Given the description of an element on the screen output the (x, y) to click on. 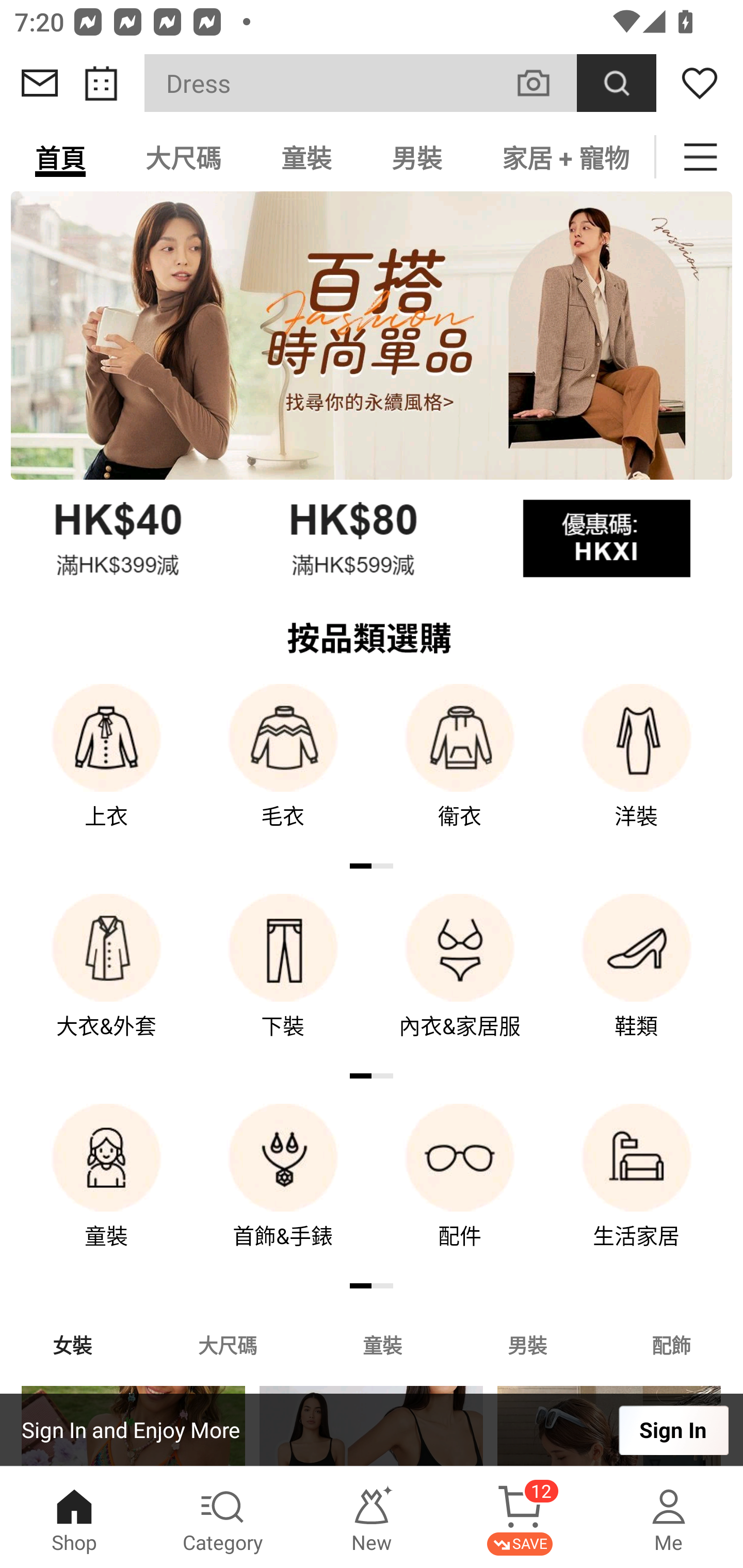
Wishlist (699, 82)
VISUAL SEARCH (543, 82)
首頁 (60, 156)
大尺碼 (183, 156)
童裝 (306, 156)
男裝 (416, 156)
家居 + 寵物 (563, 156)
上衣 (105, 769)
毛衣 (282, 769)
衛衣 (459, 769)
洋裝 (636, 769)
大衣&外套 (105, 979)
下裝 (282, 979)
內衣&家居服 (459, 979)
鞋類 (636, 979)
童裝 (105, 1189)
首飾&手錶 (282, 1189)
配件 (459, 1189)
生活家居 (636, 1189)
女裝 (72, 1344)
大尺碼 (226, 1344)
童裝 (381, 1344)
男裝 (527, 1344)
配飾 (671, 1344)
Sign In and Enjoy More Sign In (371, 1429)
Category (222, 1517)
New (371, 1517)
Cart 12 SAVE (519, 1517)
Me (668, 1517)
